Given the description of an element on the screen output the (x, y) to click on. 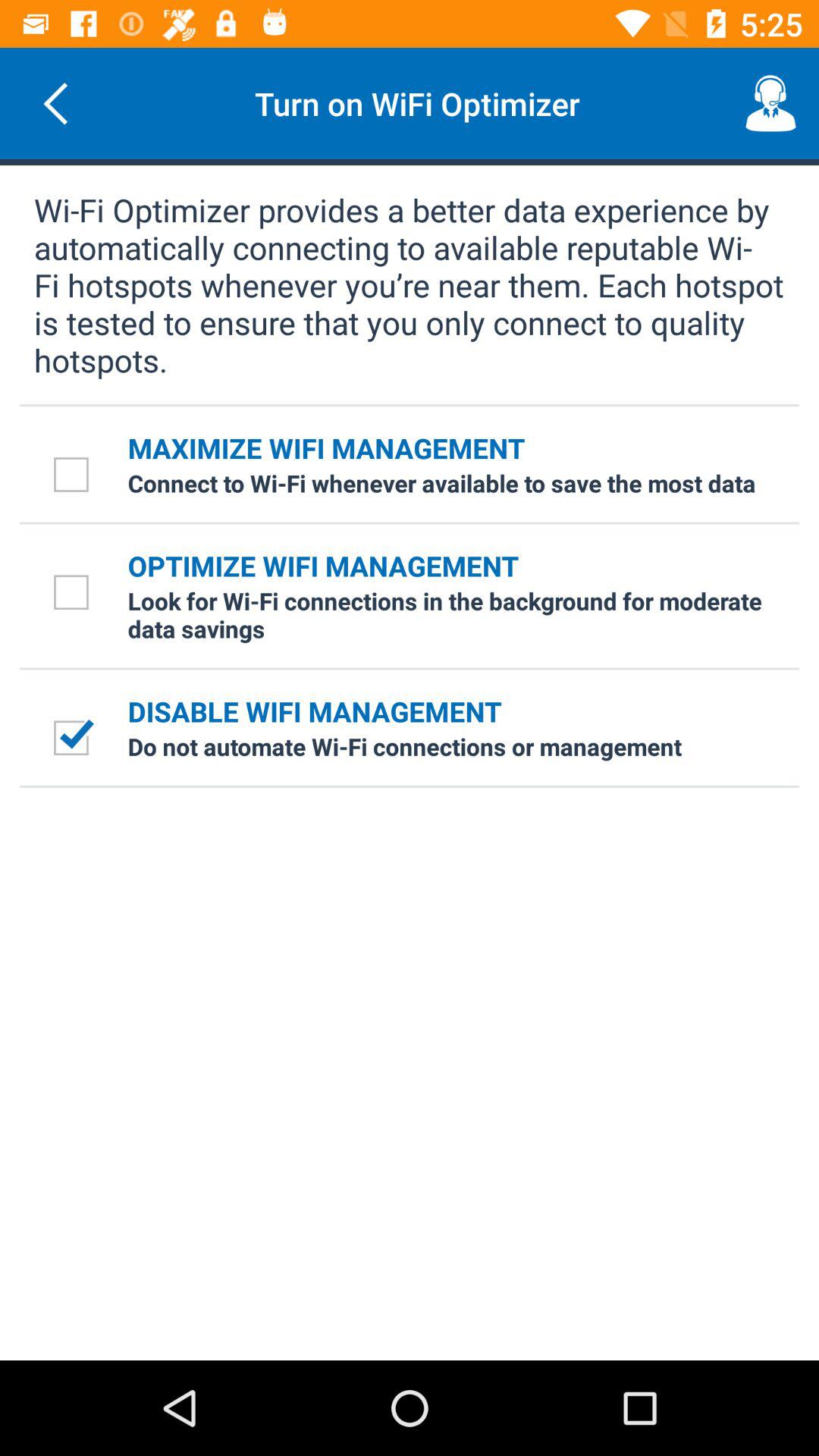
turn on the item to the right of turn on wifi icon (771, 103)
